Given the description of an element on the screen output the (x, y) to click on. 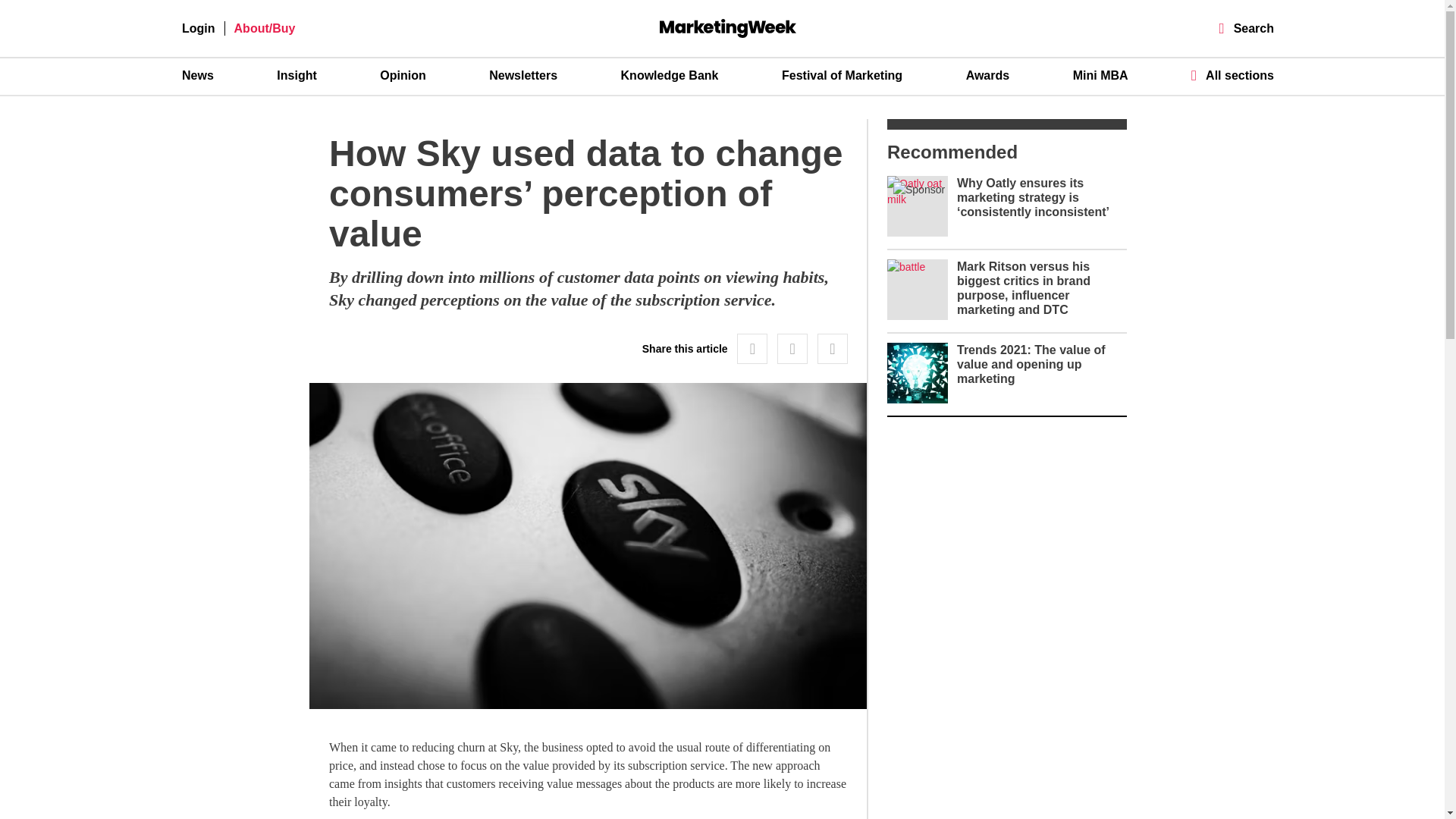
Knowledge Bank (670, 75)
Trends 2021: The value of value and opening up marketing (1030, 363)
Search (1247, 28)
Festival of Marketing (841, 75)
Login (198, 28)
News (198, 75)
Opinion (402, 75)
All sections (1232, 74)
Mini MBA (1100, 75)
Insight (295, 75)
